Given the description of an element on the screen output the (x, y) to click on. 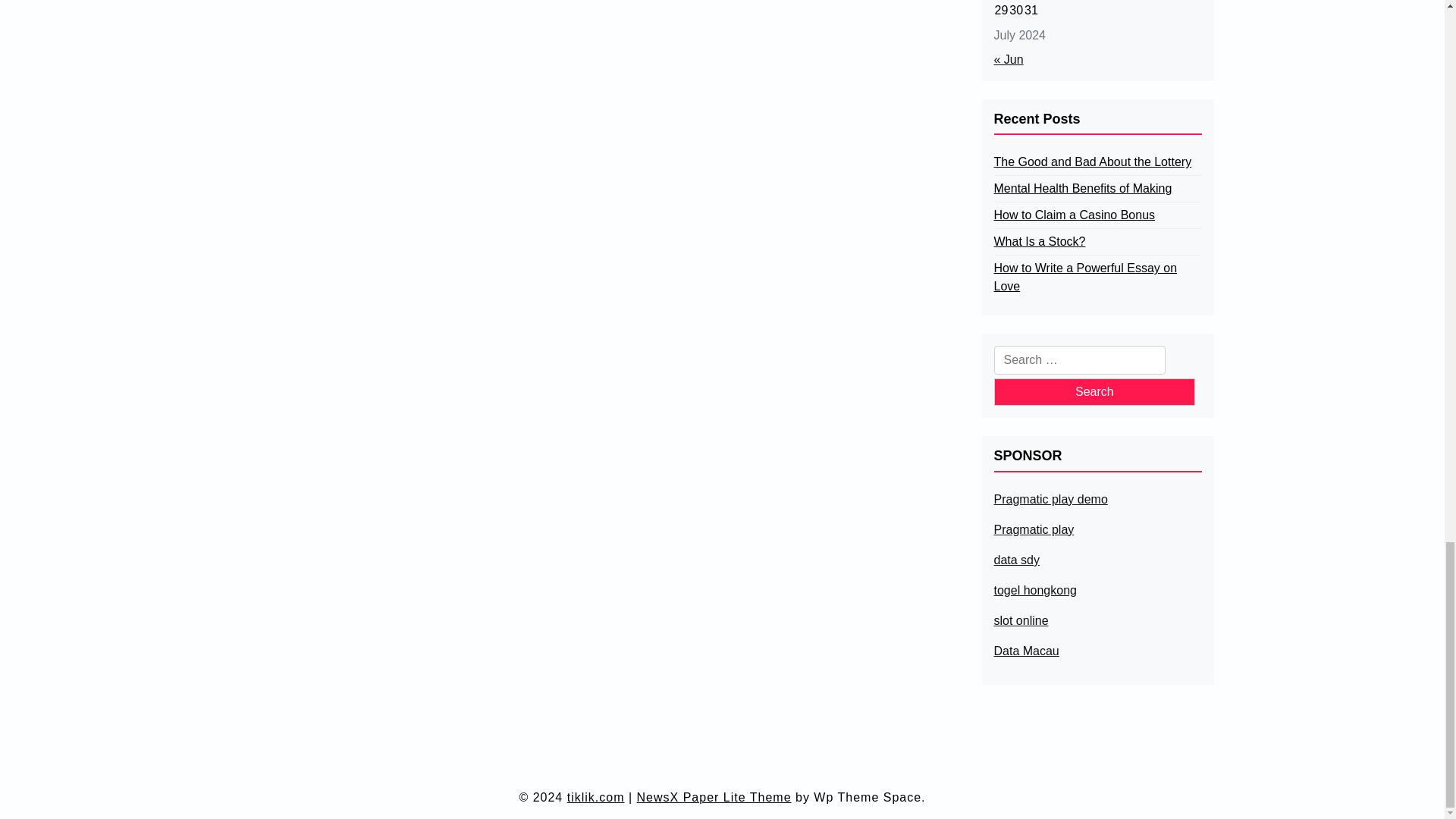
Search (1093, 391)
Search (1093, 391)
